Given the description of an element on the screen output the (x, y) to click on. 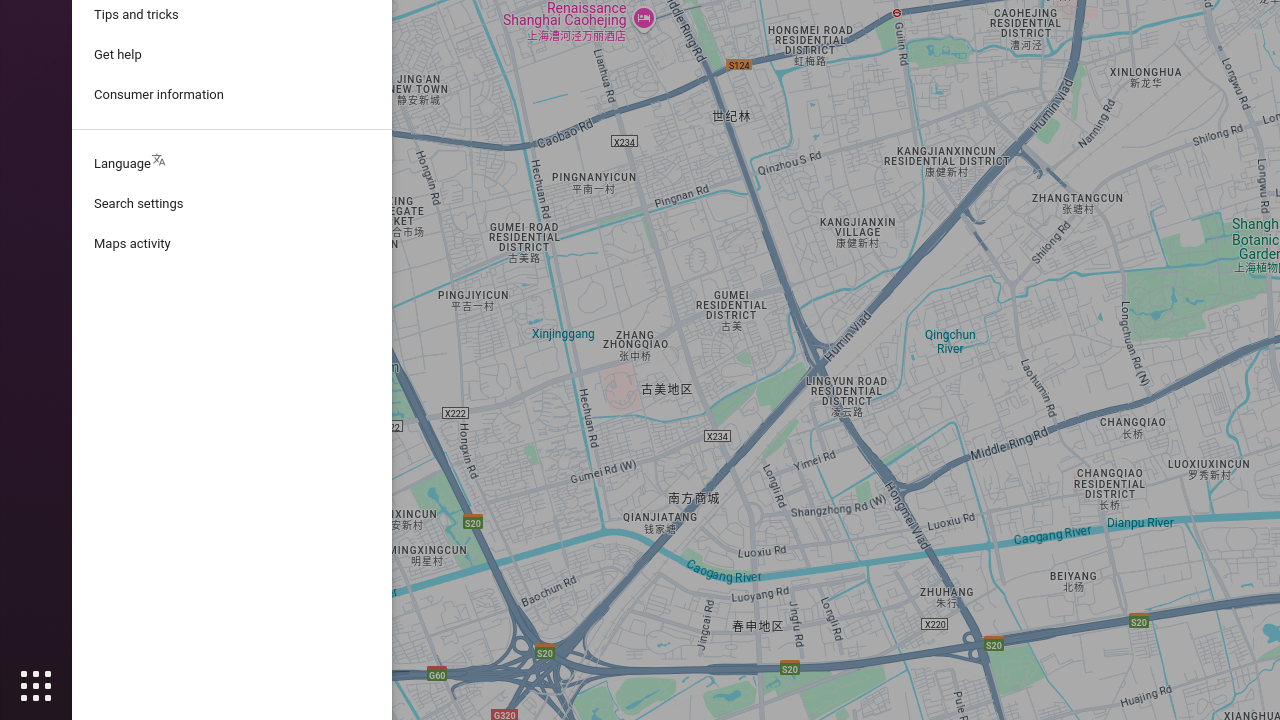
Language Element type: menu-item (232, 164)
Get help Element type: menu-item (232, 55)
Consumer information Element type: menu-item (232, 95)
Search settings Element type: menu-item (232, 204)
Maps activity Element type: menu-item (232, 244)
